Given the description of an element on the screen output the (x, y) to click on. 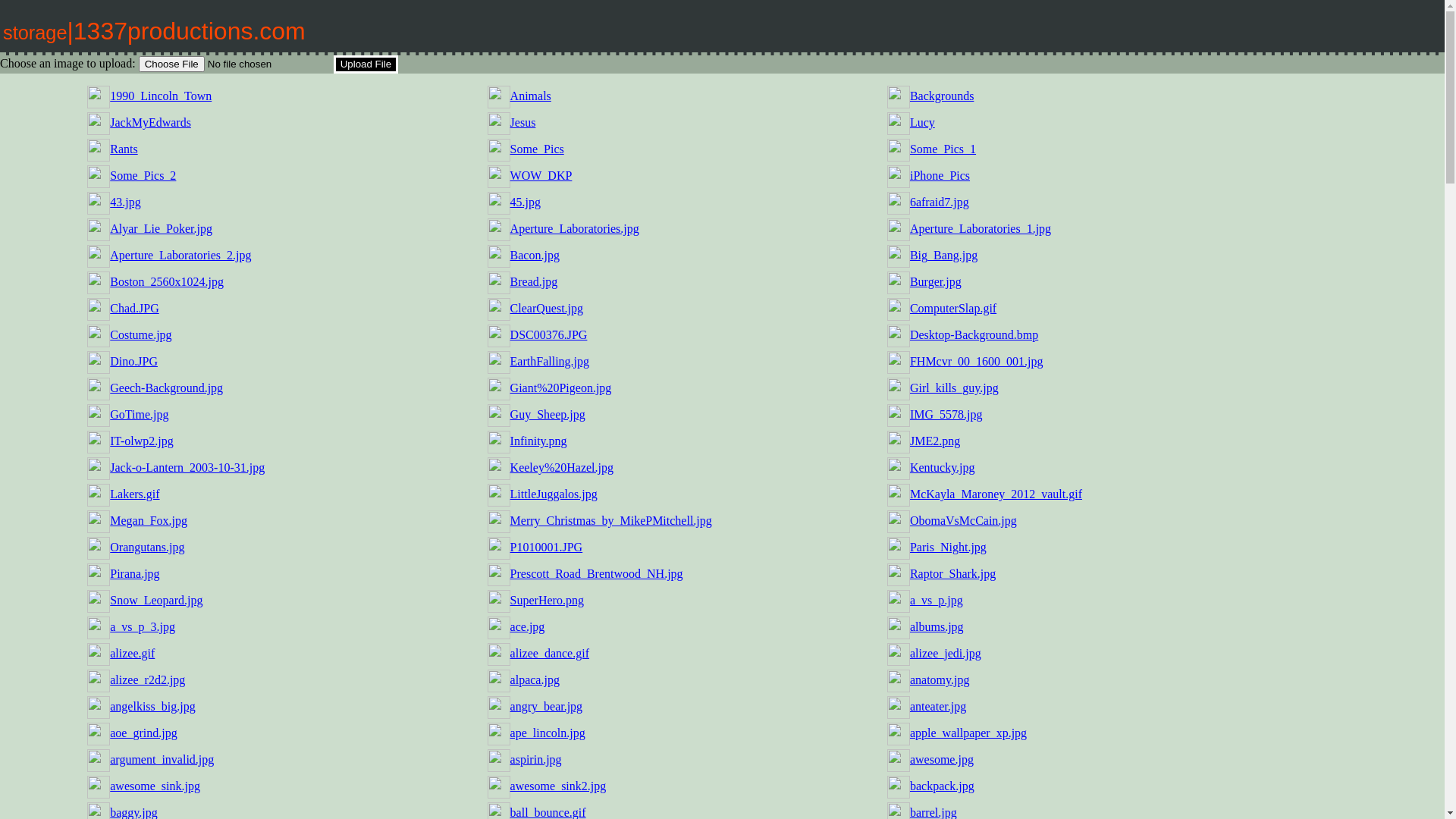
FHMcvr_00_1600_001.jpg Element type: text (976, 360)
Paris_Night.jpg Element type: text (948, 546)
Boston_2560x1024.jpg Element type: text (166, 281)
ComputerSlap.gif Element type: text (953, 307)
aspirin.jpg Element type: text (535, 759)
awesome.jpg Element type: text (941, 759)
backpack.jpg Element type: text (942, 785)
Raptor_Shark.jpg Element type: text (952, 573)
SuperHero.png Element type: text (546, 599)
Animals Element type: text (530, 95)
Chad.JPG Element type: text (133, 307)
ObomaVsMcCain.jpg Element type: text (963, 520)
Aperture_Laboratories_1.jpg Element type: text (980, 228)
alizee_r2d2.jpg Element type: text (147, 679)
Geech-Background.jpg Element type: text (165, 387)
Dino.JPG Element type: text (133, 360)
ace.jpg Element type: text (527, 626)
alizee_jedi.jpg Element type: text (945, 652)
Pirana.jpg Element type: text (134, 573)
argument_invalid.jpg Element type: text (161, 759)
Desktop-Background.bmp Element type: text (974, 334)
JackMyEdwards Element type: text (150, 122)
awesome_sink.jpg Element type: text (154, 785)
Keeley%20Hazel.jpg Element type: text (561, 467)
Alyar_Lie_Poker.jpg Element type: text (160, 228)
43.jpg Element type: text (124, 201)
alizee.gif Element type: text (131, 652)
Some_Pics_2 Element type: text (142, 175)
Costume.jpg Element type: text (140, 334)
alpaca.jpg Element type: text (534, 679)
a_vs_p_3.jpg Element type: text (142, 626)
albums.jpg Element type: text (936, 626)
LittleJuggalos.jpg Element type: text (553, 493)
iPhone_Pics Element type: text (939, 175)
ape_lincoln.jpg Element type: text (547, 732)
Big_Bang.jpg Element type: text (943, 254)
45.jpg Element type: text (525, 201)
IMG_5578.jpg Element type: text (946, 413)
Kentucky.jpg Element type: text (942, 467)
Merry_Christmas_by_MikePMitchell.jpg Element type: text (611, 520)
Aperture_Laboratories_2.jpg Element type: text (180, 254)
anteater.jpg Element type: text (938, 705)
JME2.png Element type: text (935, 440)
Some_Pics_1 Element type: text (942, 148)
a_vs_p.jpg Element type: text (936, 599)
ClearQuest.jpg Element type: text (546, 307)
angry_bear.jpg Element type: text (546, 705)
1990_Lincoln_Town Element type: text (160, 95)
McKayla_Maroney_2012_vault.gif Element type: text (996, 493)
Prescott_Road_Brentwood_NH.jpg Element type: text (596, 573)
Girl_kills_guy.jpg Element type: text (954, 387)
IT-olwp2.jpg Element type: text (140, 440)
WOW_DKP Element type: text (541, 175)
Giant%20Pigeon.jpg Element type: text (560, 387)
6afraid7.jpg Element type: text (939, 201)
Some_Pics Element type: text (537, 148)
P1010001.JPG Element type: text (546, 546)
EarthFalling.jpg Element type: text (549, 360)
alizee_dance.gif Element type: text (549, 652)
Bacon.jpg Element type: text (534, 254)
Backgrounds Element type: text (941, 95)
Lucy Element type: text (922, 122)
Rants Element type: text (123, 148)
Snow_Leopard.jpg Element type: text (155, 599)
GoTime.jpg Element type: text (138, 413)
awesome_sink2.jpg Element type: text (558, 785)
Burger.jpg Element type: text (935, 281)
Megan_Fox.jpg Element type: text (148, 520)
Guy_Sheep.jpg Element type: text (547, 413)
Aperture_Laboratories.jpg Element type: text (574, 228)
Infinity.png Element type: text (538, 440)
anatomy.jpg Element type: text (939, 679)
apple_wallpaper_xp.jpg Element type: text (968, 732)
Upload File Element type: text (365, 64)
DSC00376.JPG Element type: text (548, 334)
Lakers.gif Element type: text (134, 493)
Jesus Element type: text (523, 122)
aoe_grind.jpg Element type: text (142, 732)
Orangutans.jpg Element type: text (146, 546)
angelkiss_big.jpg Element type: text (151, 705)
Jack-o-Lantern_2003-10-31.jpg Element type: text (186, 467)
Bread.jpg Element type: text (534, 281)
